Given the description of an element on the screen output the (x, y) to click on. 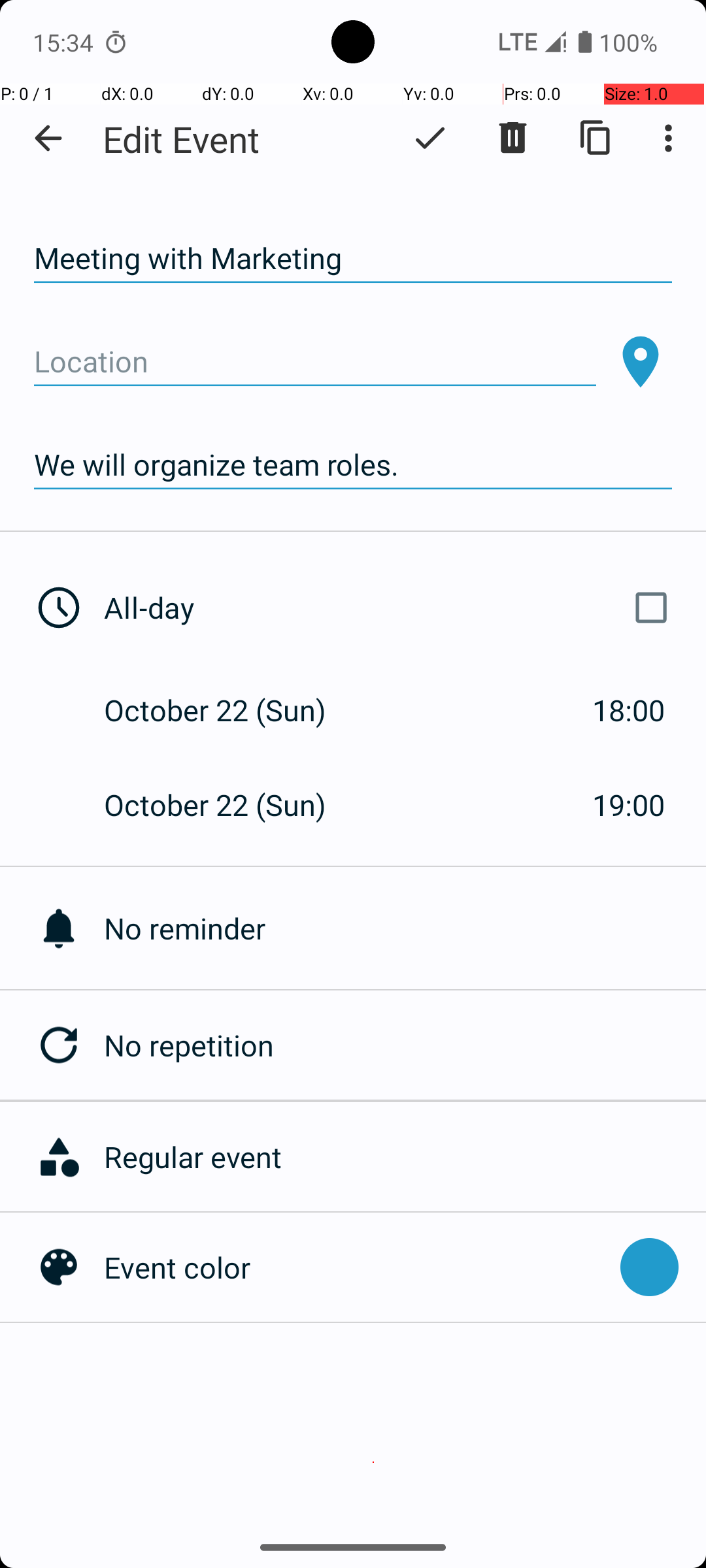
We will organize team roles. Element type: android.widget.EditText (352, 465)
October 22 (Sun) Element type: android.widget.TextView (228, 709)
